Given the description of an element on the screen output the (x, y) to click on. 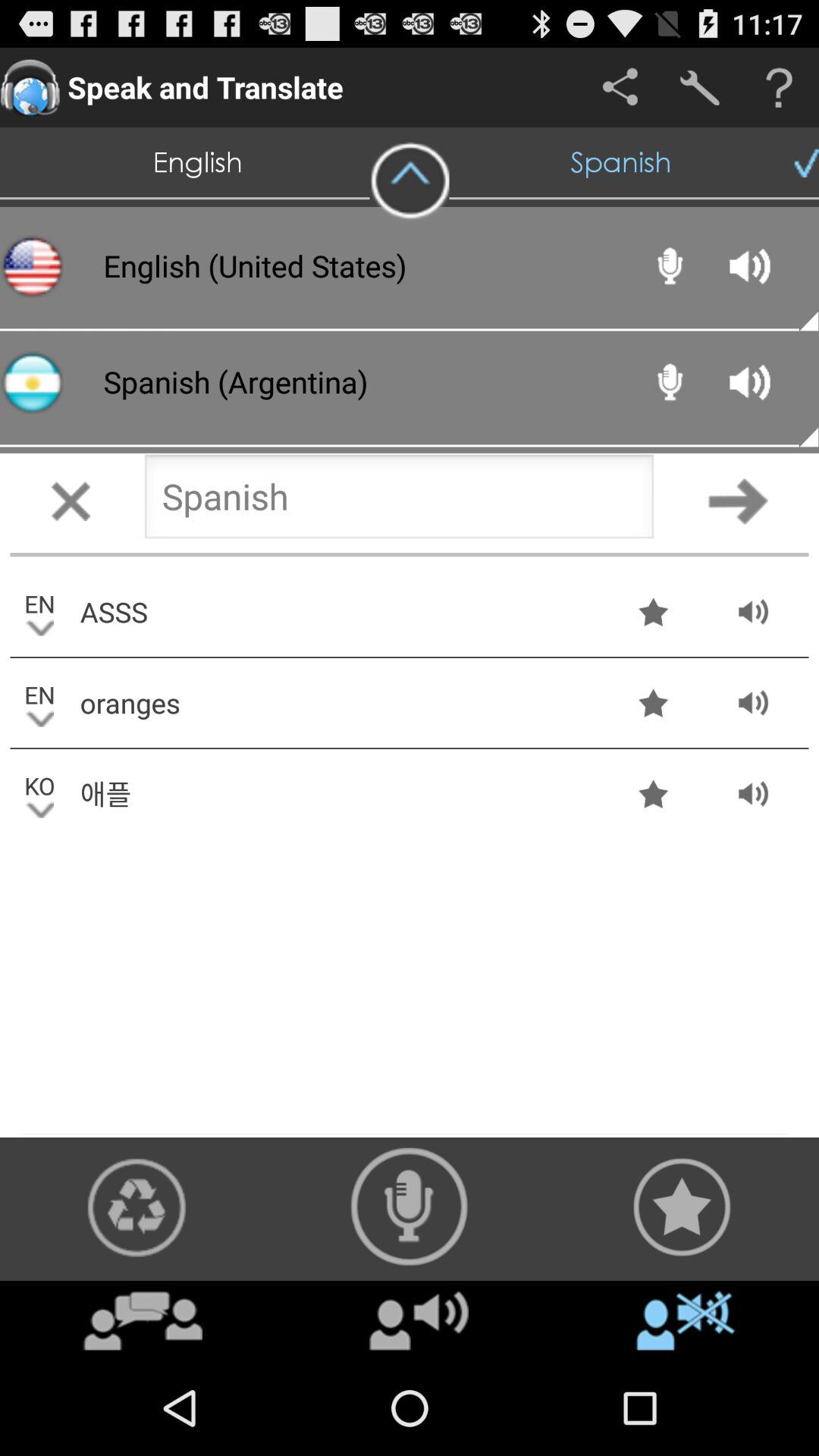
turn off icon (685, 1320)
